Given the description of an element on the screen output the (x, y) to click on. 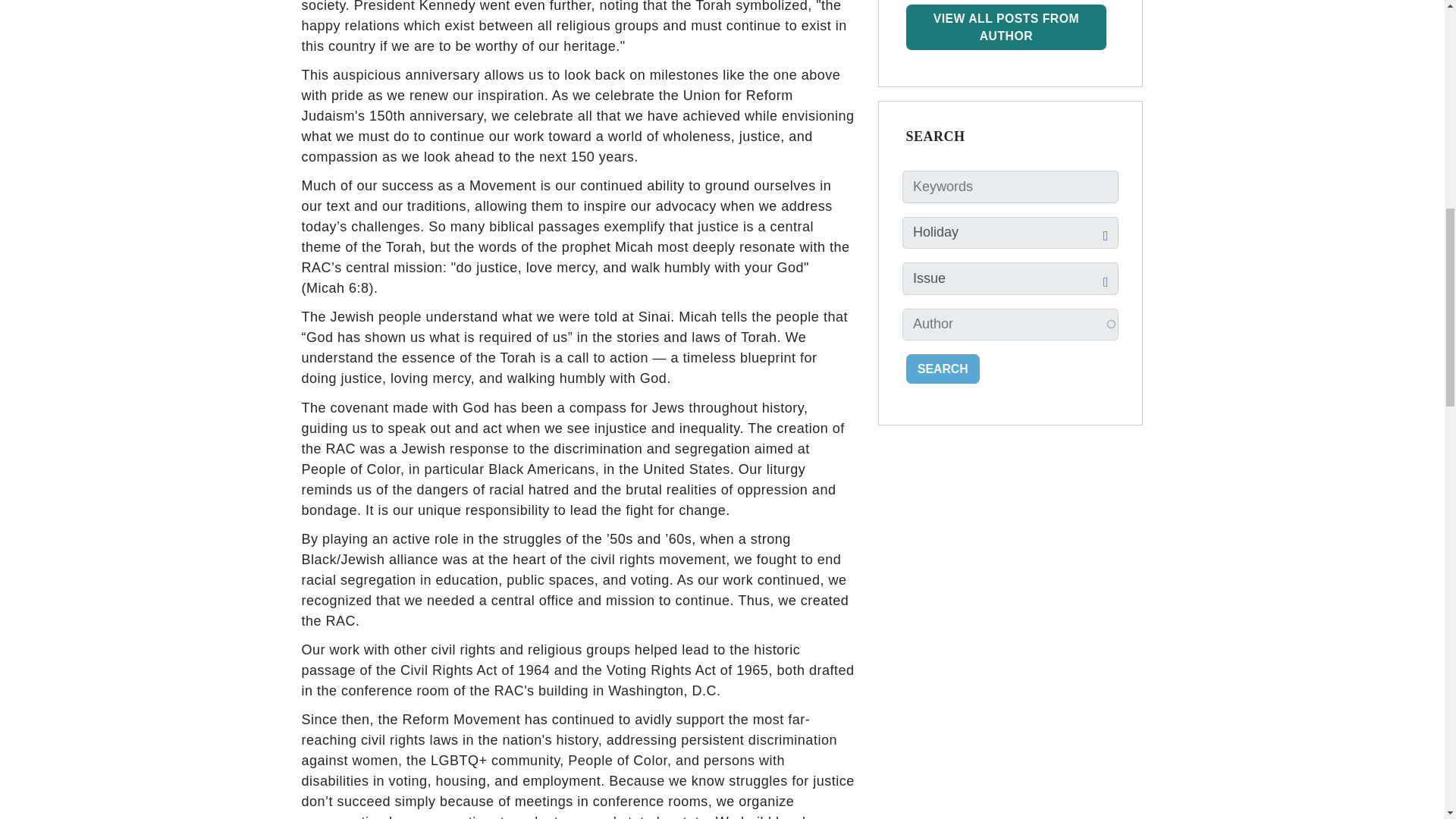
Search (942, 368)
